Given the description of an element on the screen output the (x, y) to click on. 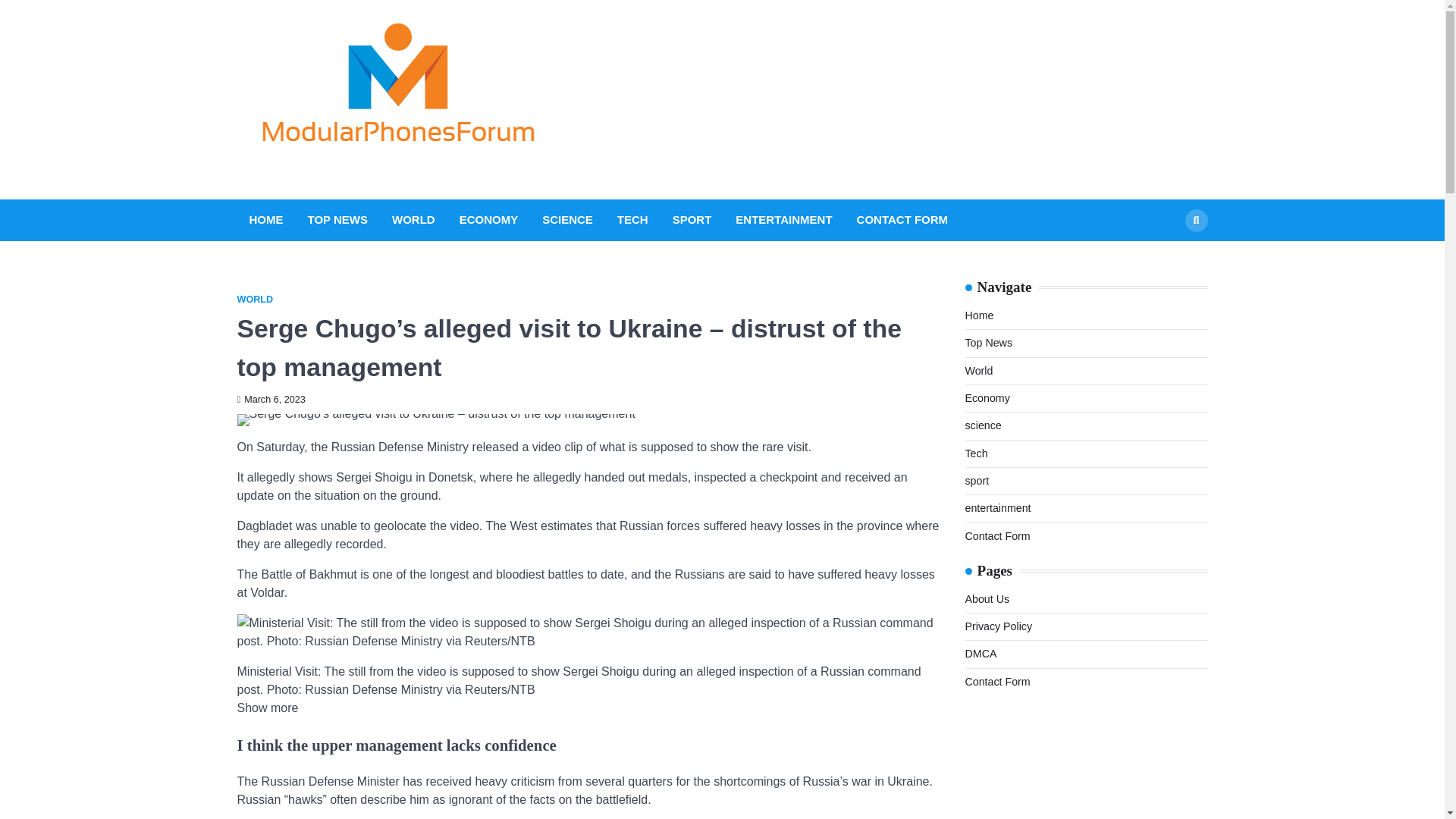
Search (1196, 220)
TECH (632, 220)
DMCA (979, 653)
TOP NEWS (337, 220)
Tech (975, 453)
CONTACT FORM (902, 220)
WORLD (413, 220)
sport (975, 480)
HOME (265, 220)
Home (977, 315)
entertainment (996, 508)
ENTERTAINMENT (783, 220)
Contact Form (996, 535)
SPORT (691, 220)
Top News (987, 342)
